Given the description of an element on the screen output the (x, y) to click on. 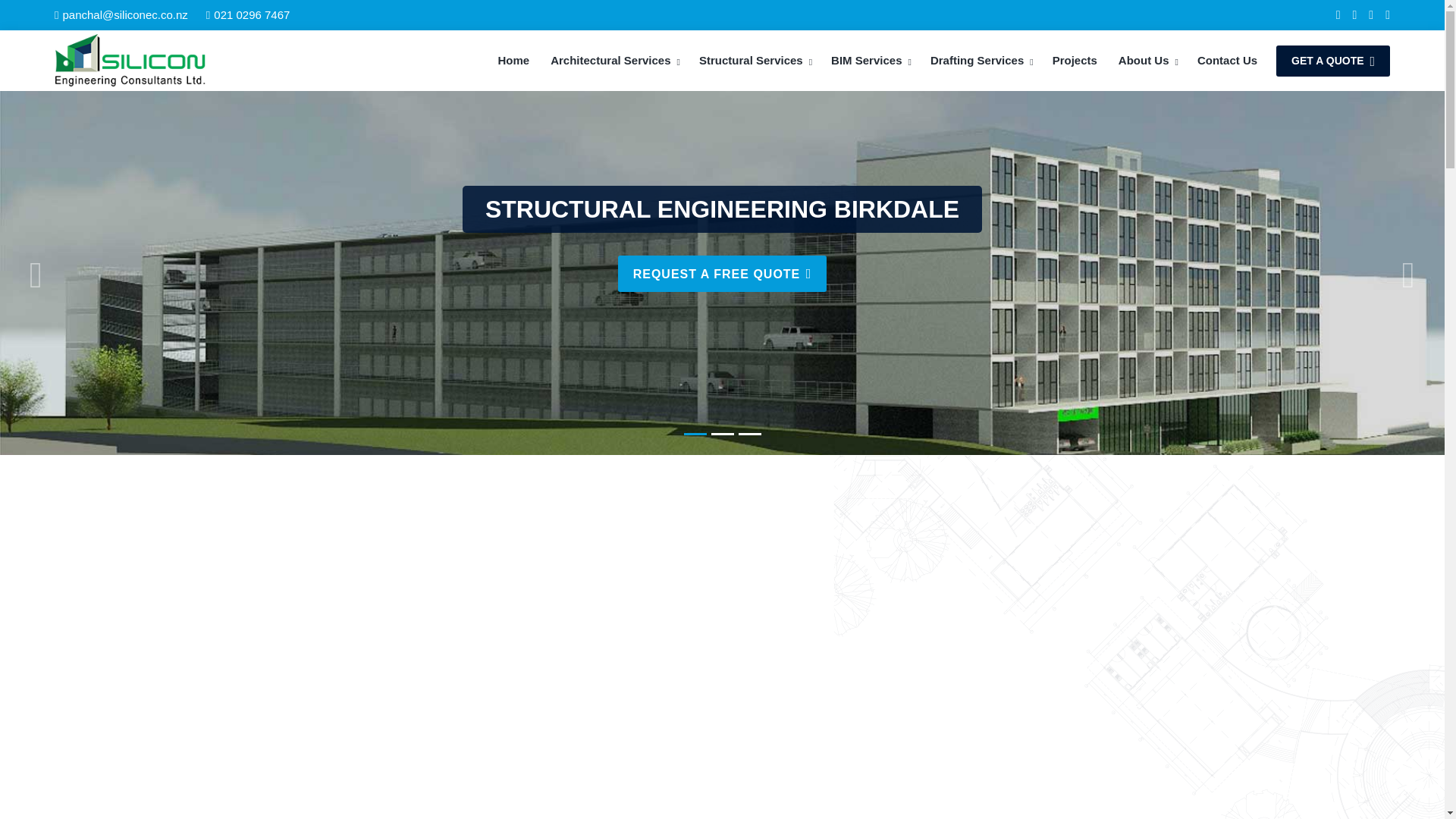
BIM Services (869, 60)
Structural Engineering Services Birkdale (130, 60)
Home (513, 60)
Contact Us (1227, 60)
GET A QUOTE (1333, 60)
REQUEST A FREE QUOTE (722, 304)
GET A QUOTE (1333, 60)
About Us (1146, 60)
Architectural Services (613, 60)
REQUEST A FREE QUOTE (722, 280)
Drafting Services (980, 60)
Projects (1074, 60)
Structural Services (754, 60)
